Given the description of an element on the screen output the (x, y) to click on. 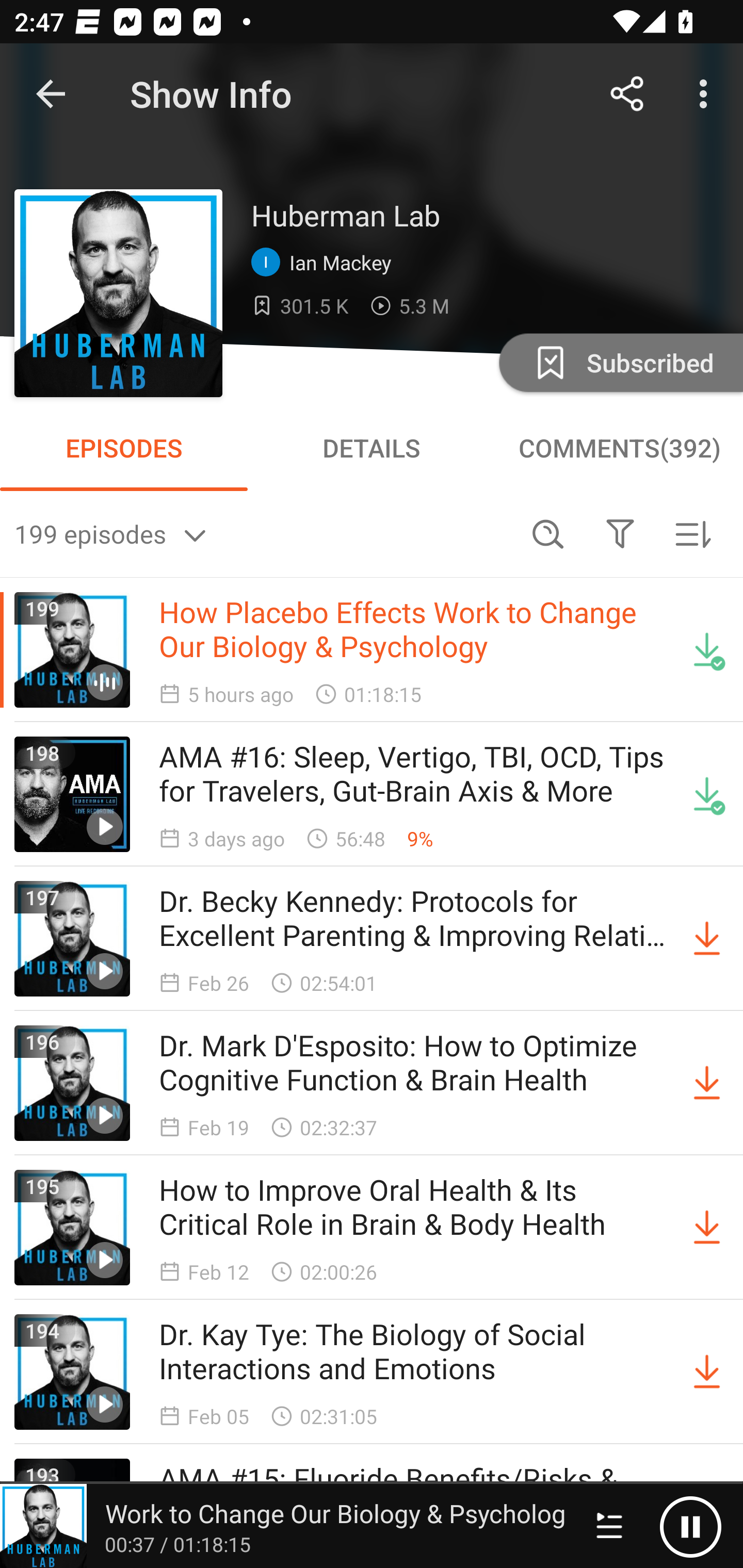
Navigate up (50, 93)
Share (626, 93)
More options (706, 93)
Ian Mackey (326, 262)
Unsubscribe Subscribed (619, 361)
EPISODES (123, 447)
DETAILS (371, 447)
COMMENTS(392) (619, 447)
199 episodes  (262, 533)
 Search (547, 533)
 (619, 533)
 Sorted by newest first (692, 533)
Downloaded (706, 649)
Downloaded (706, 793)
Download (706, 939)
Download (706, 1083)
Download (706, 1227)
Download (706, 1371)
Pause (690, 1526)
